Given the description of an element on the screen output the (x, y) to click on. 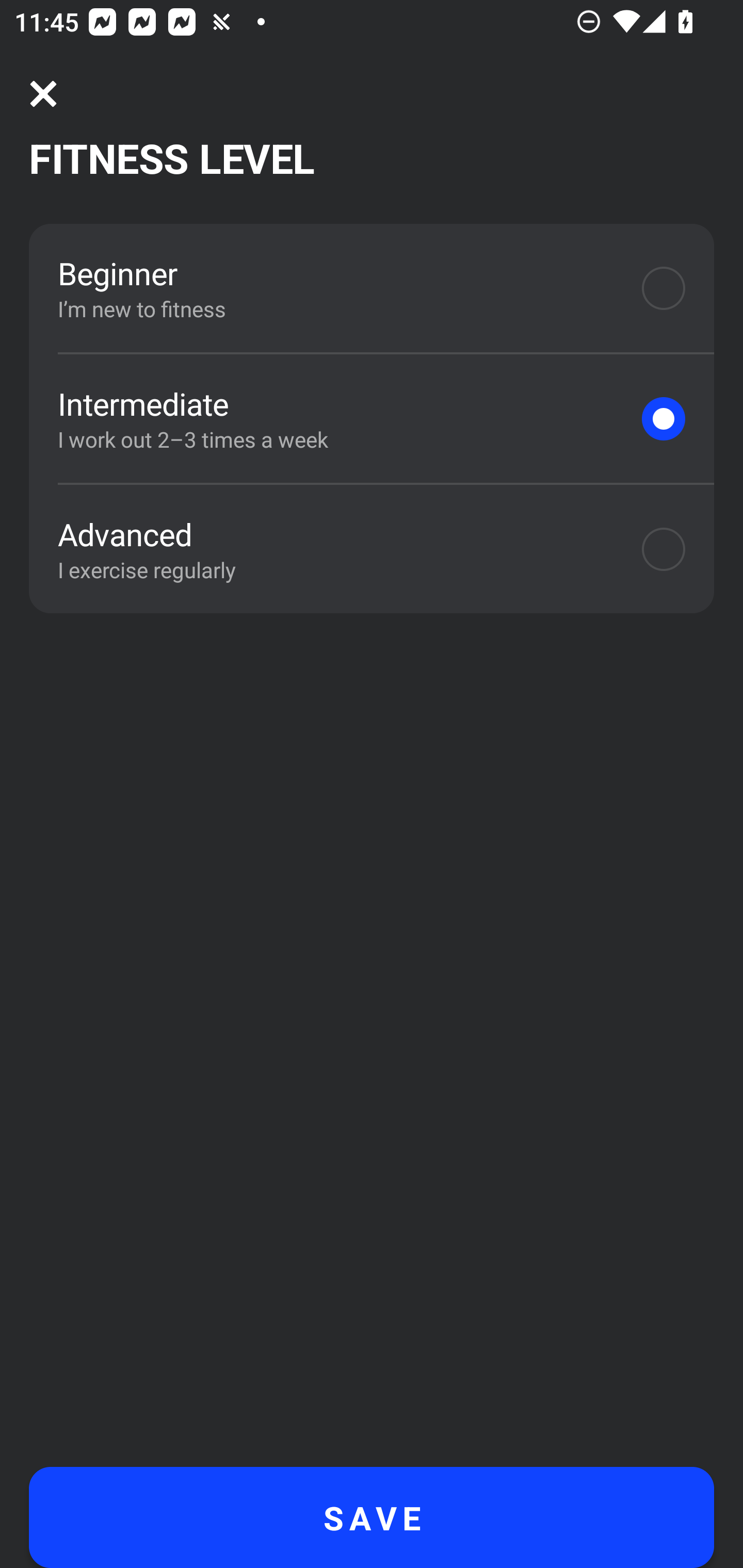
Navigation icon (43, 93)
SAVE (371, 1517)
